Given the description of an element on the screen output the (x, y) to click on. 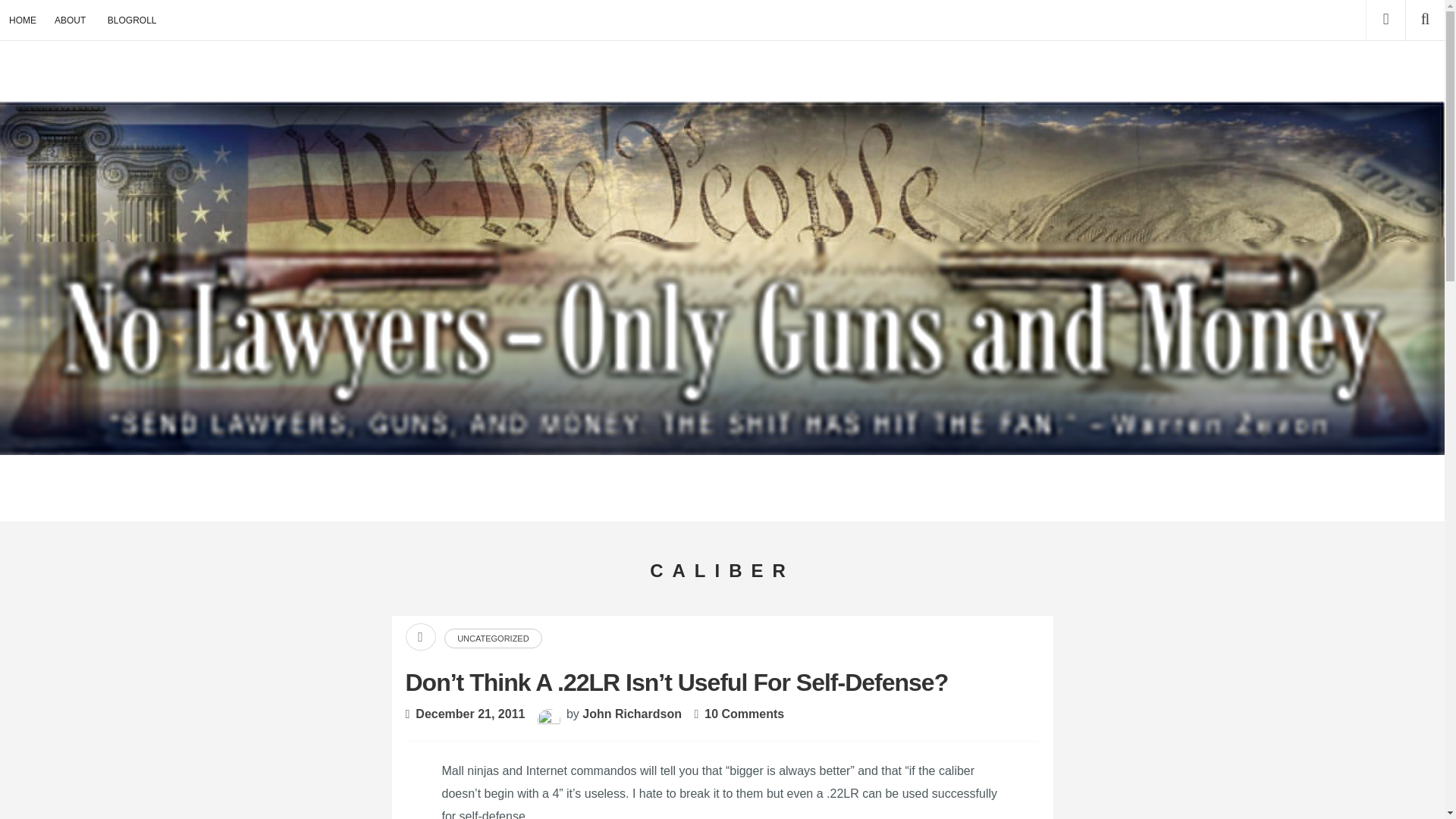
December 21, 2011 (470, 713)
social network accounts (1385, 20)
ABOUT (69, 20)
HOME (22, 20)
UNCATEGORIZED (492, 638)
Social (1385, 20)
John Richardson (631, 713)
BLOGROLL (132, 20)
10 Comments (744, 713)
View all posts in Uncategorized (492, 638)
Posts by John Richardson (631, 713)
